Given the description of an element on the screen output the (x, y) to click on. 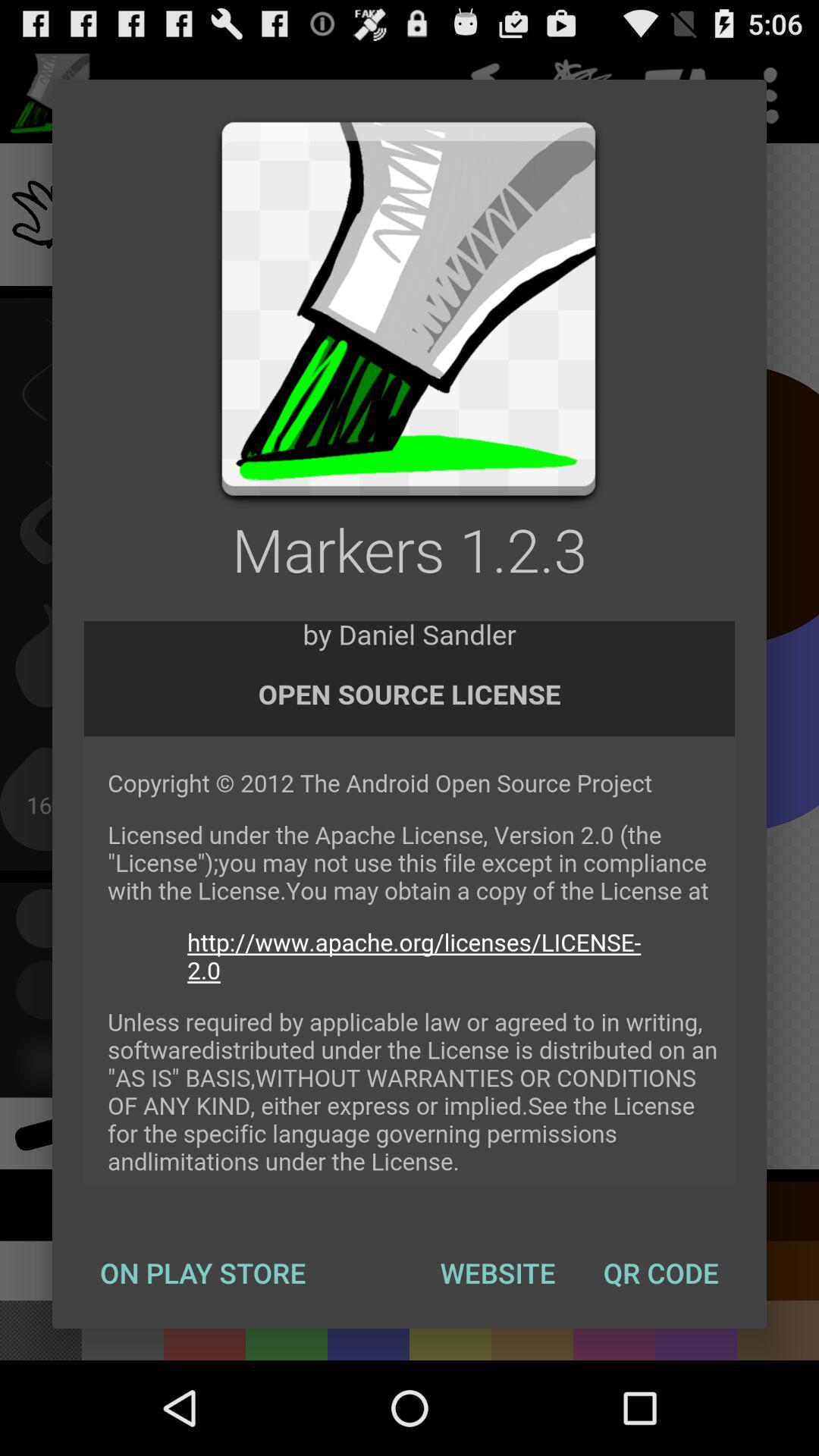
license box (409, 903)
